Given the description of an element on the screen output the (x, y) to click on. 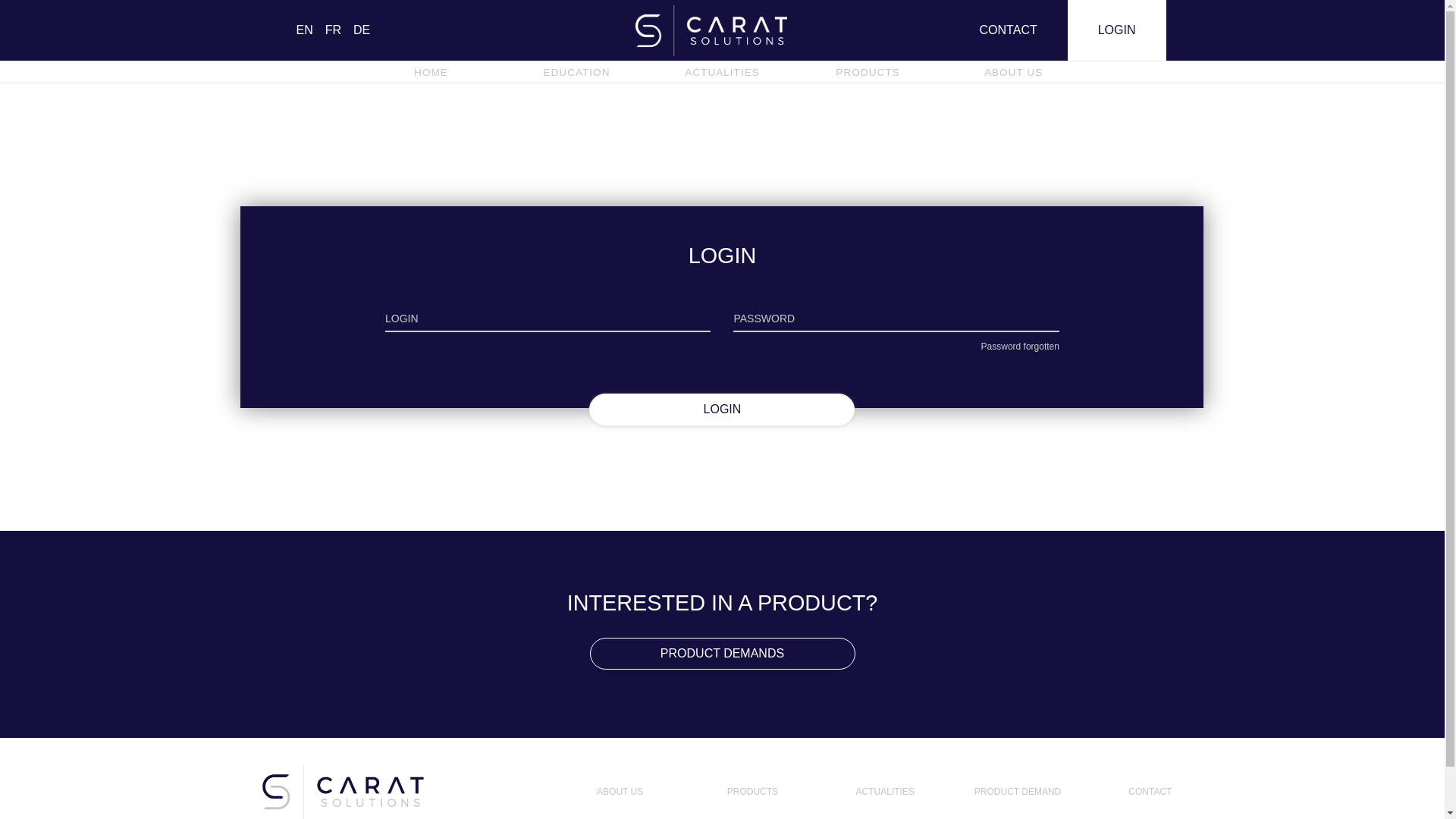
Password forgotten Element type: text (1020, 346)
LOGIN Element type: text (721, 409)
PRODUCTS Element type: text (752, 791)
ABOUT US Element type: text (619, 791)
PRODUCT DEMANDS Element type: text (722, 653)
PRODUCT DEMAND Element type: text (1017, 791)
HOME Element type: text (430, 70)
ACTUALITIES Element type: text (721, 70)
CONTACT Element type: text (1149, 791)
PRODUCTS Element type: text (867, 70)
CONTACT Element type: text (1008, 30)
ABOUT US Element type: text (1012, 70)
ACTUALITIES Element type: text (885, 791)
FR Element type: text (333, 30)
DE Element type: text (361, 30)
LOGIN Element type: text (1116, 30)
EDUCATION Element type: text (576, 70)
EN Element type: text (303, 30)
